Given the description of an element on the screen output the (x, y) to click on. 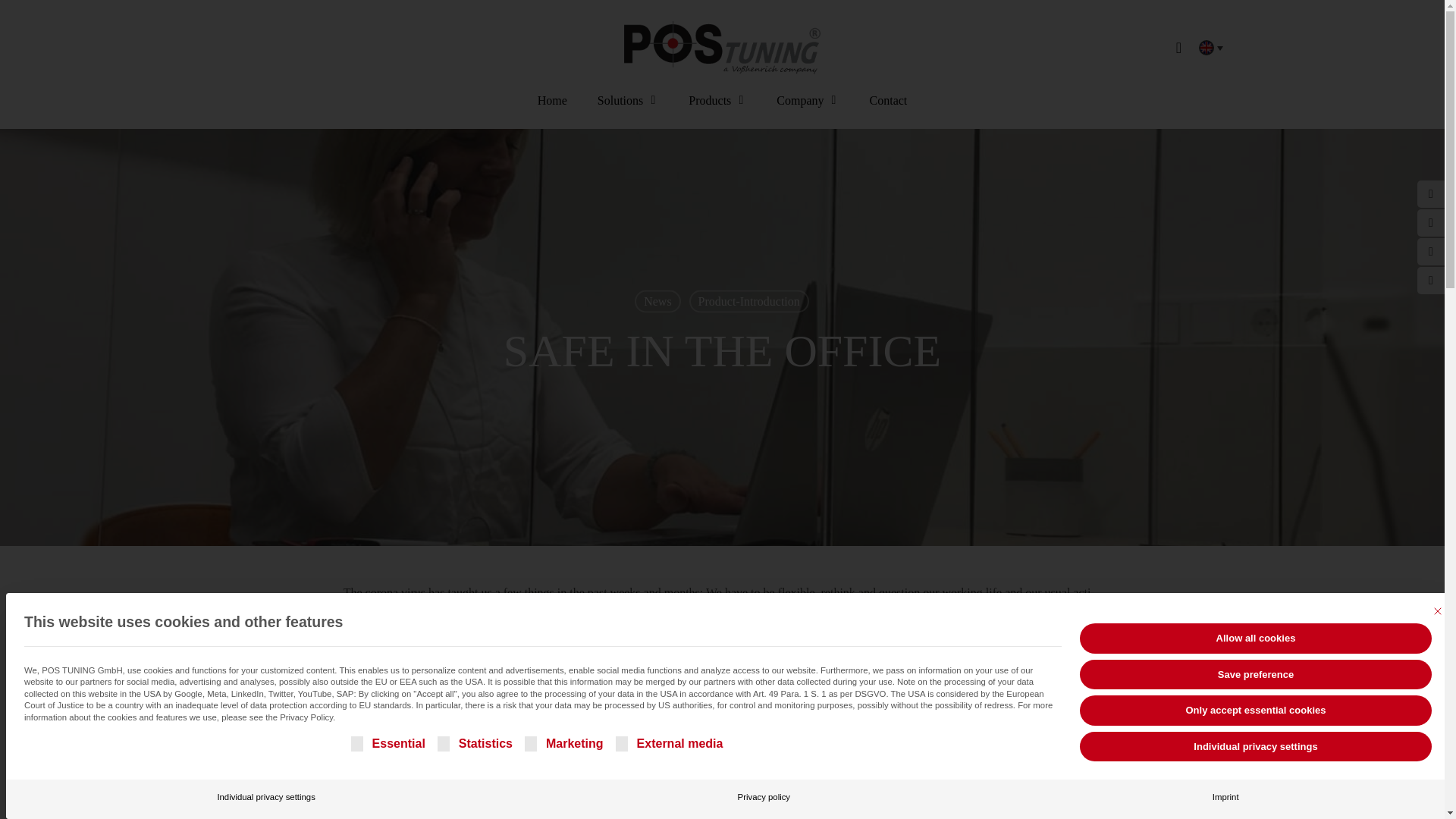
Solutions (627, 111)
search (1178, 47)
